Given the description of an element on the screen output the (x, y) to click on. 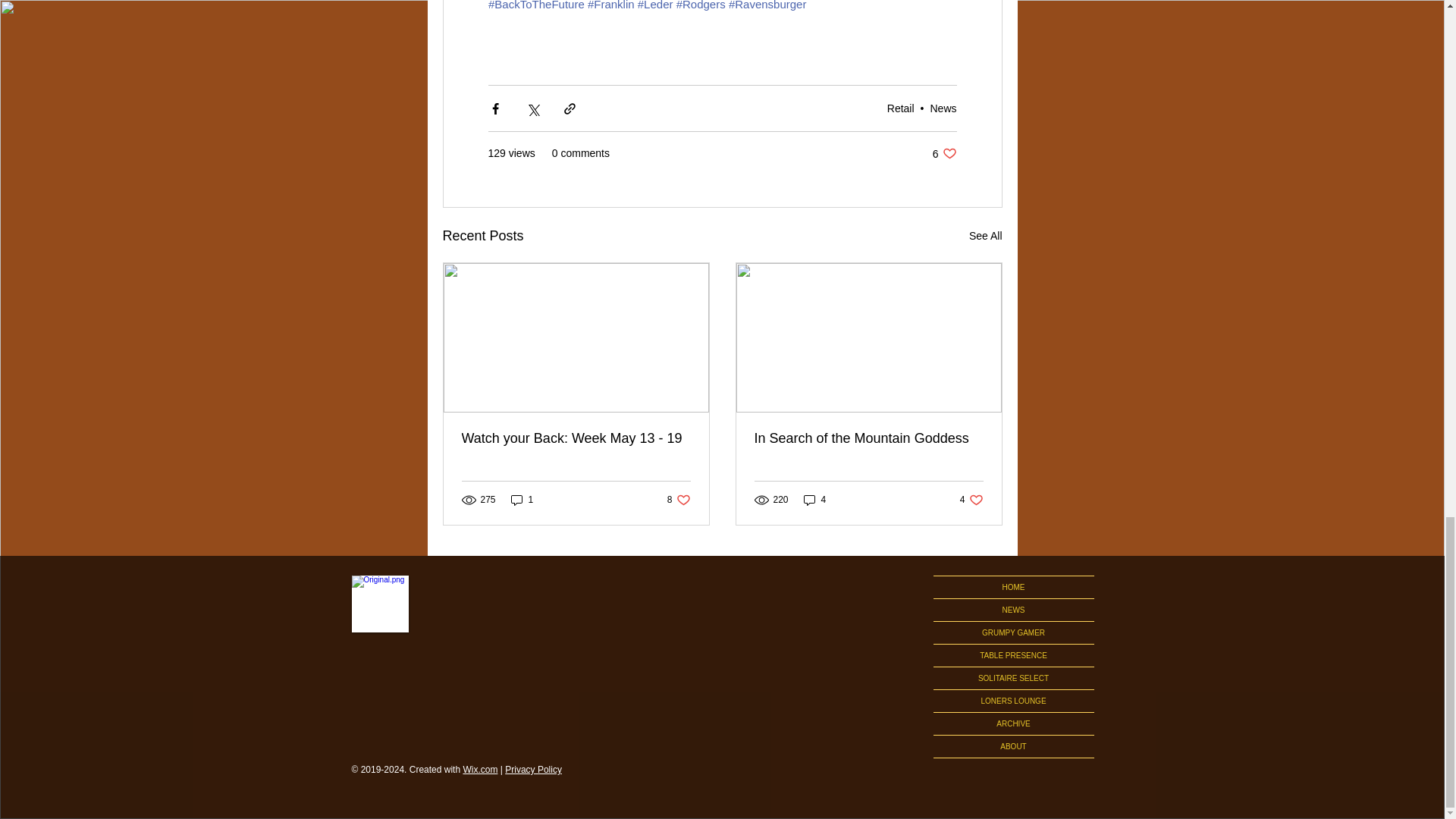
Retail (900, 108)
News (943, 108)
See All (986, 236)
Solitaire Times - solo board game news (944, 153)
